Given the description of an element on the screen output the (x, y) to click on. 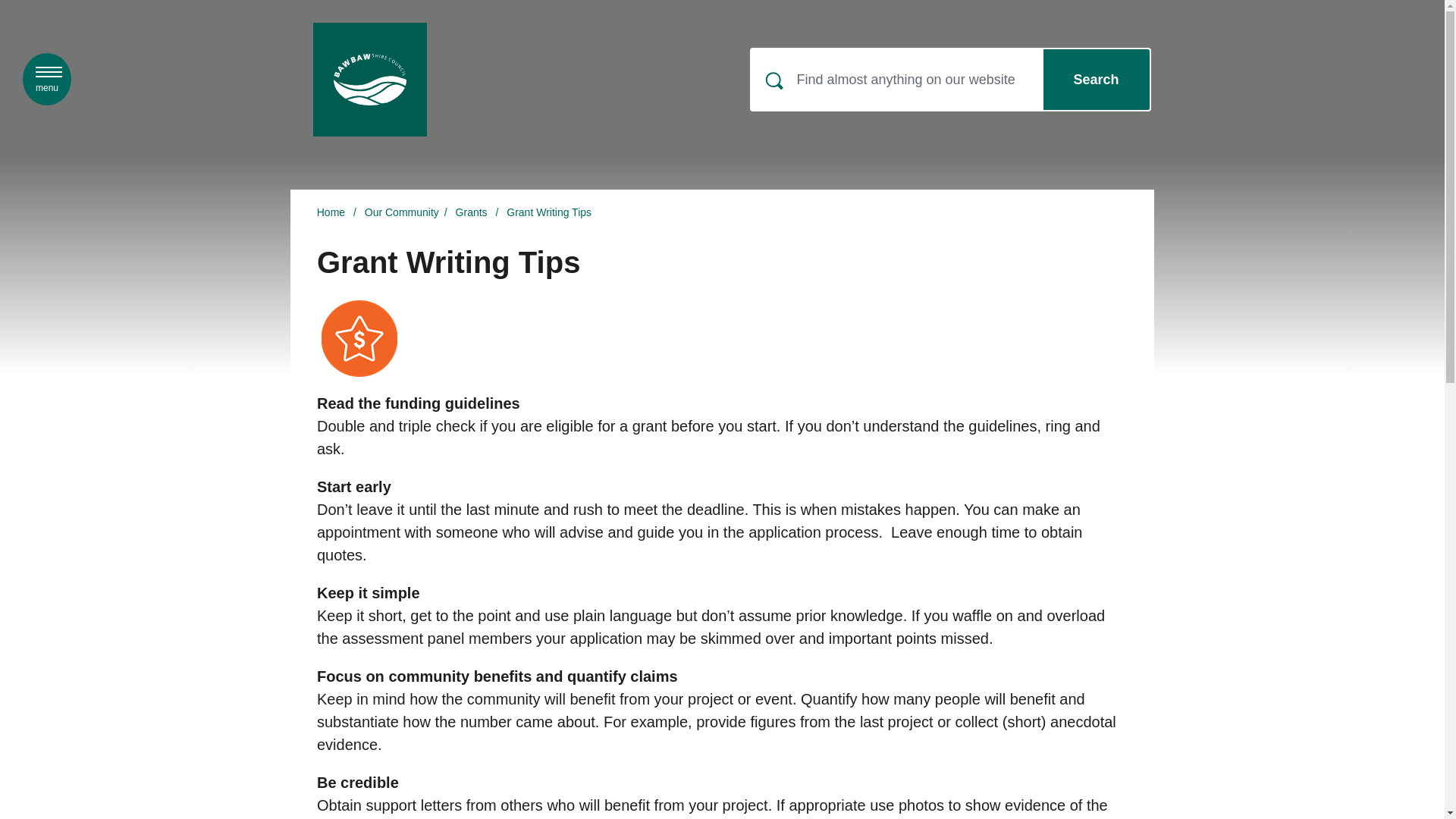
Search (1096, 79)
Baw Baw Shire Council - Home - Logo (47, 79)
Search (369, 79)
Search (1096, 79)
